Given the description of an element on the screen output the (x, y) to click on. 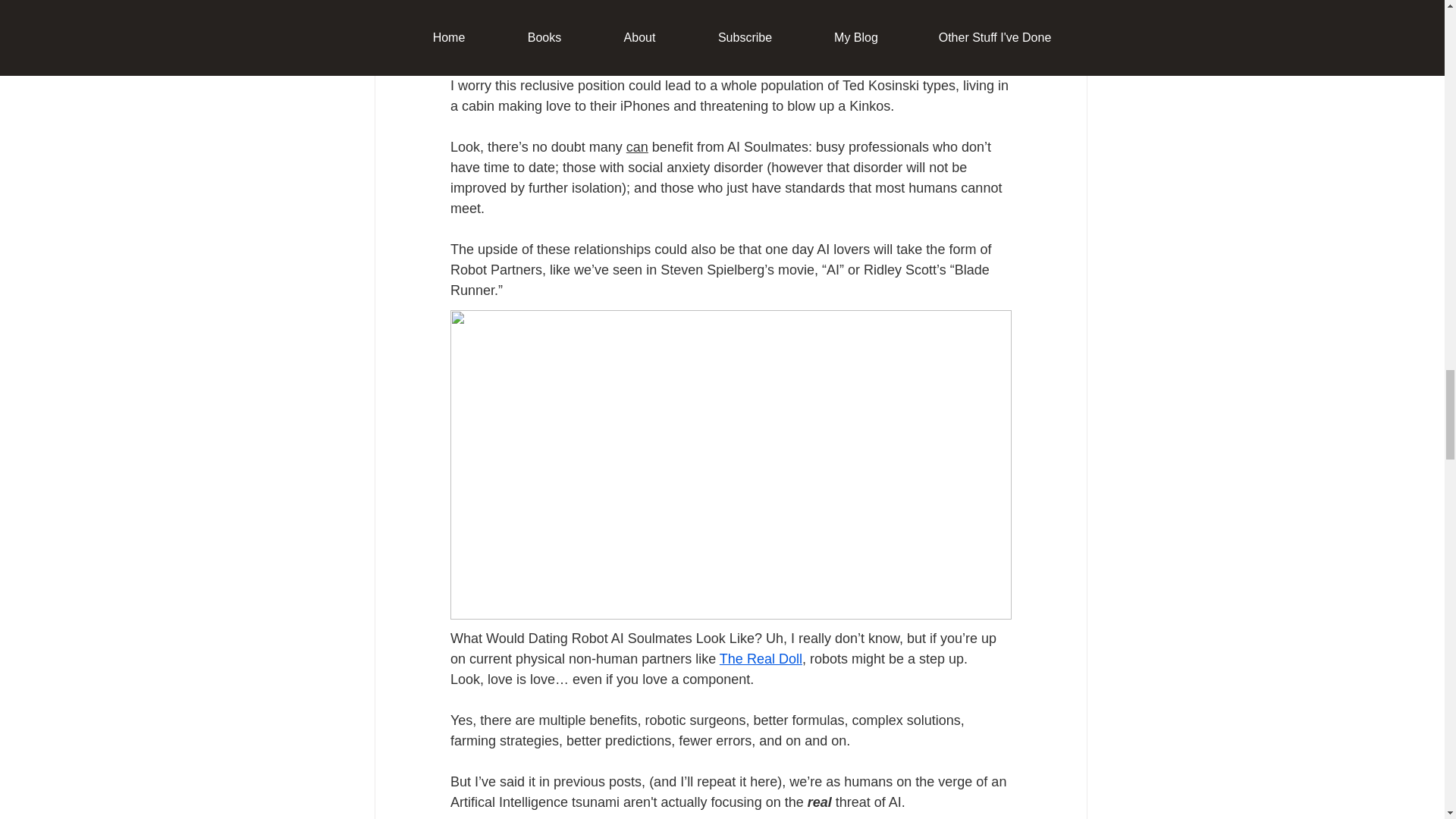
The Real Doll (760, 658)
